Given the description of an element on the screen output the (x, y) to click on. 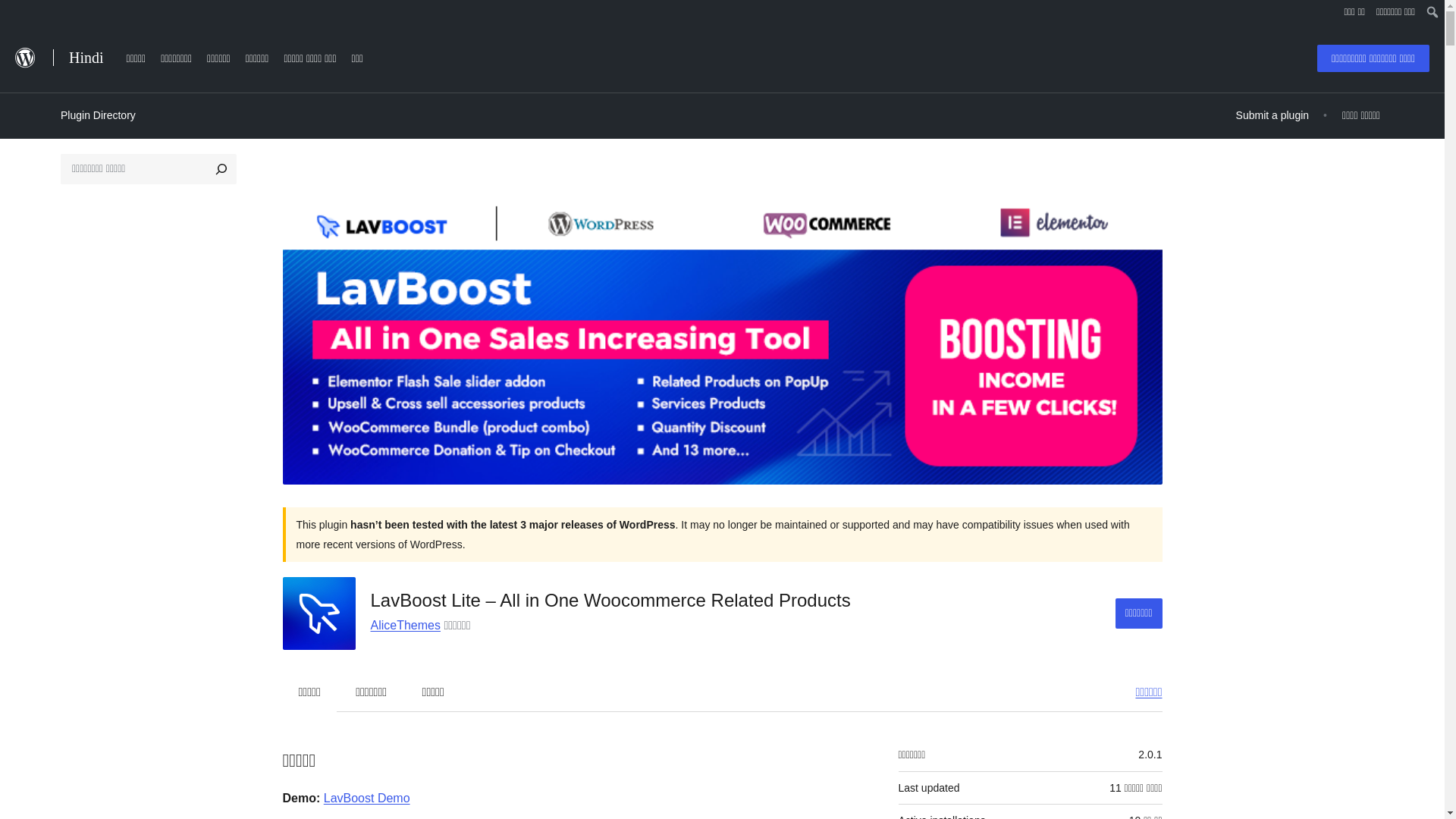
AliceThemes (404, 625)
LavBoost Demo (366, 797)
Plugin Directory (97, 115)
Submit a plugin (1272, 115)
